Given the description of an element on the screen output the (x, y) to click on. 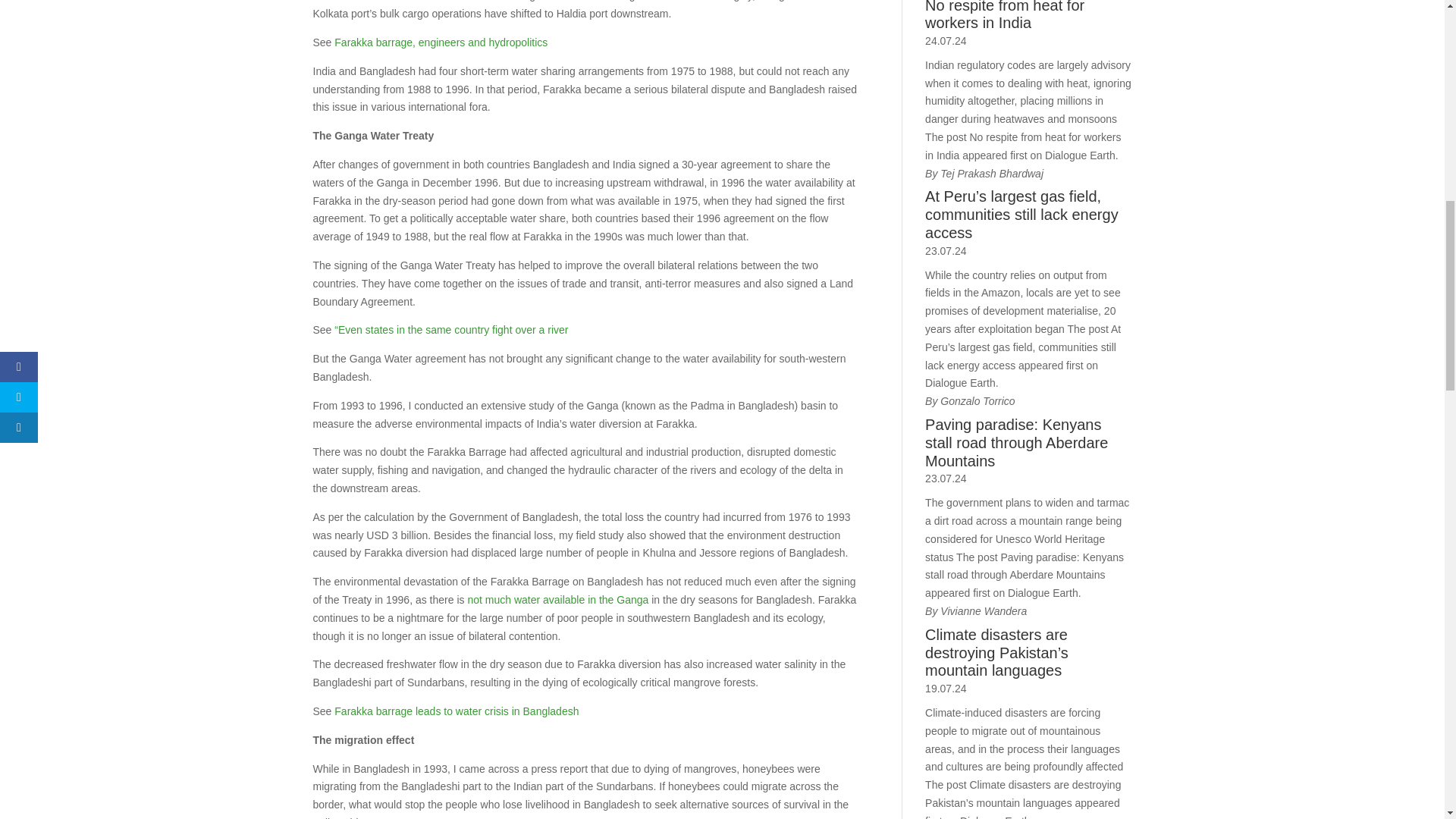
No respite from heat for workers in India (1027, 16)
Farakka barrage leads to water crisis in Bangladesh (456, 711)
not much water available in the Ganga (557, 599)
Farakka barrage, engineers and hydropolitics (440, 42)
